Given the description of an element on the screen output the (x, y) to click on. 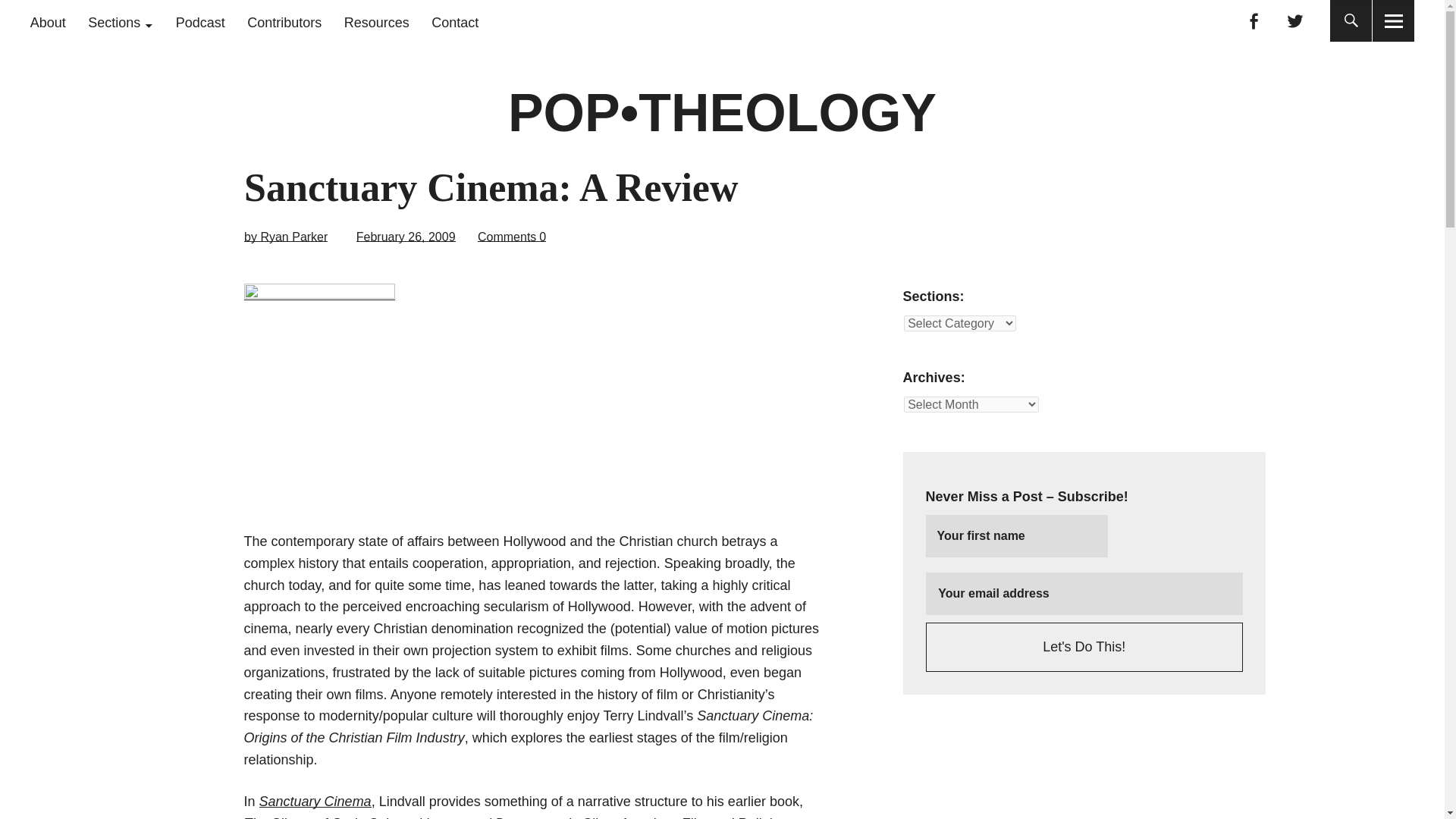
Resources (376, 22)
Sections (119, 22)
Contributors (284, 22)
Podcast (200, 22)
About (47, 22)
Facebook (1252, 20)
Search (692, 19)
Contact (454, 22)
Let's Do This! (1084, 646)
Twitter (1295, 20)
Your email address (1084, 593)
Your first name (1017, 536)
